Given the description of an element on the screen output the (x, y) to click on. 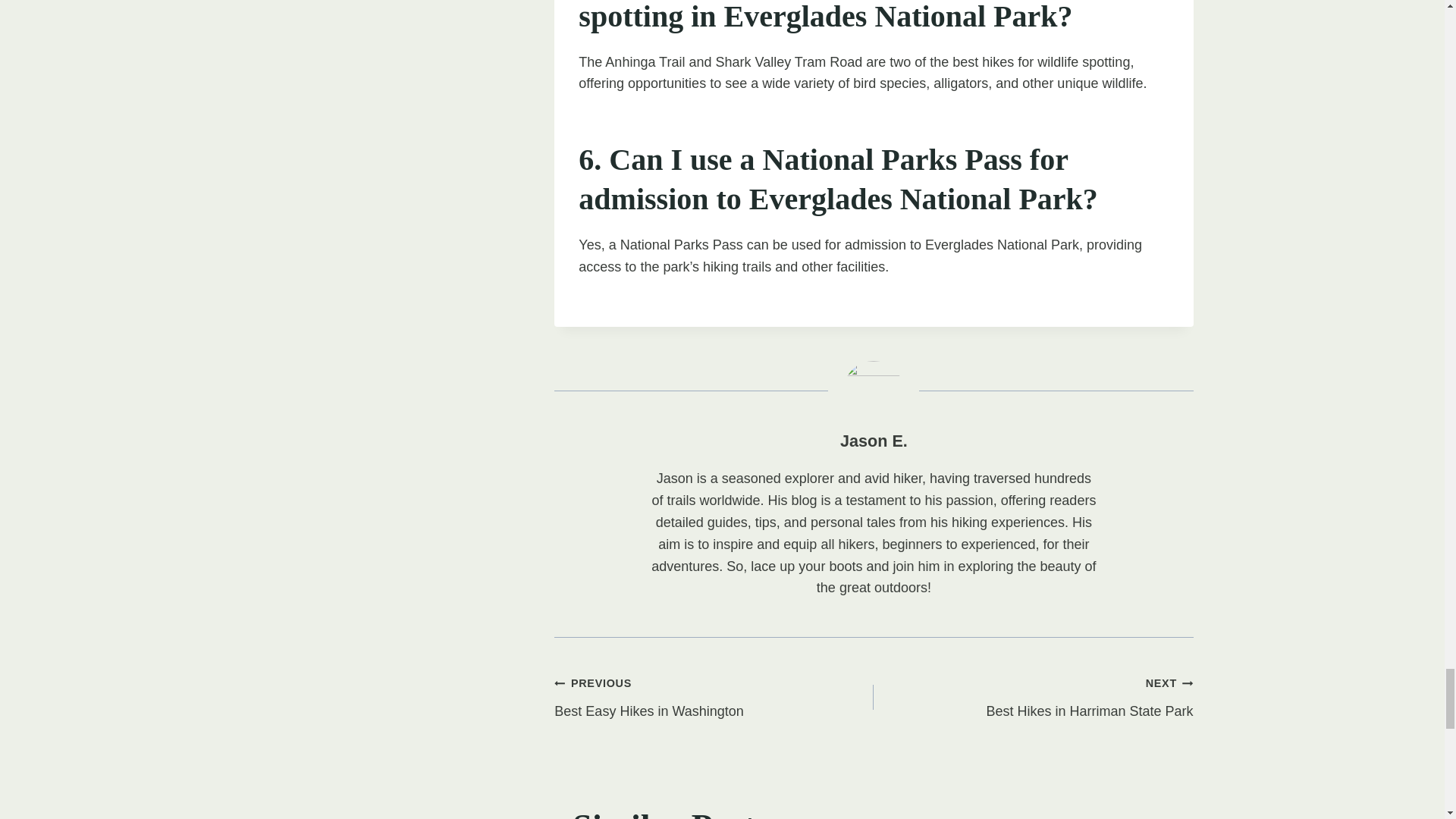
Jason E. (713, 696)
Posts by Jason E. (873, 440)
